Given the description of an element on the screen output the (x, y) to click on. 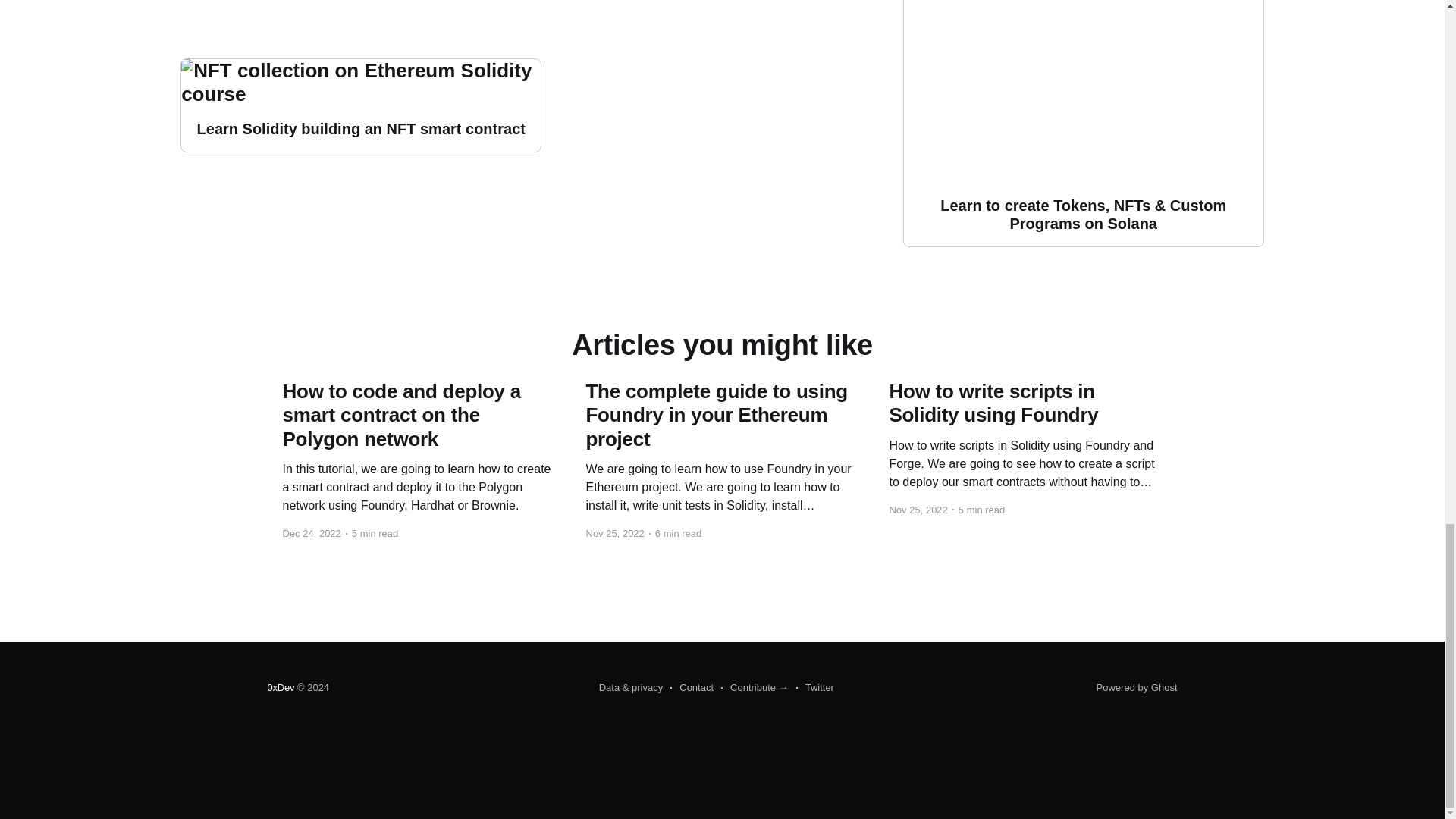
Twitter (815, 687)
Powered by Ghost (1136, 686)
Learn Solidity building an NFT smart contract (360, 104)
Contact (691, 687)
0xDev (280, 686)
